Given the description of an element on the screen output the (x, y) to click on. 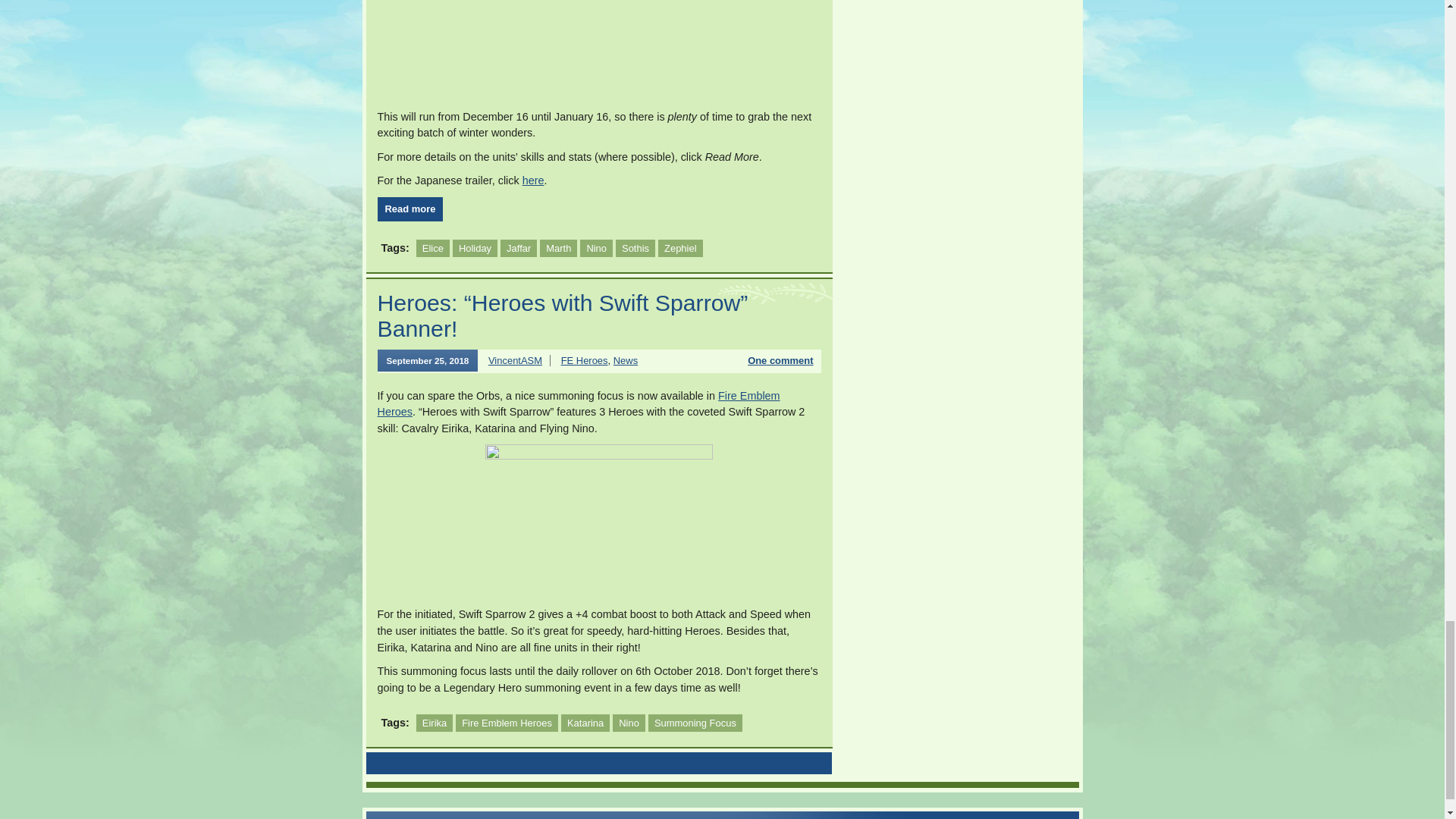
Posts by VincentASM (514, 360)
